Given the description of an element on the screen output the (x, y) to click on. 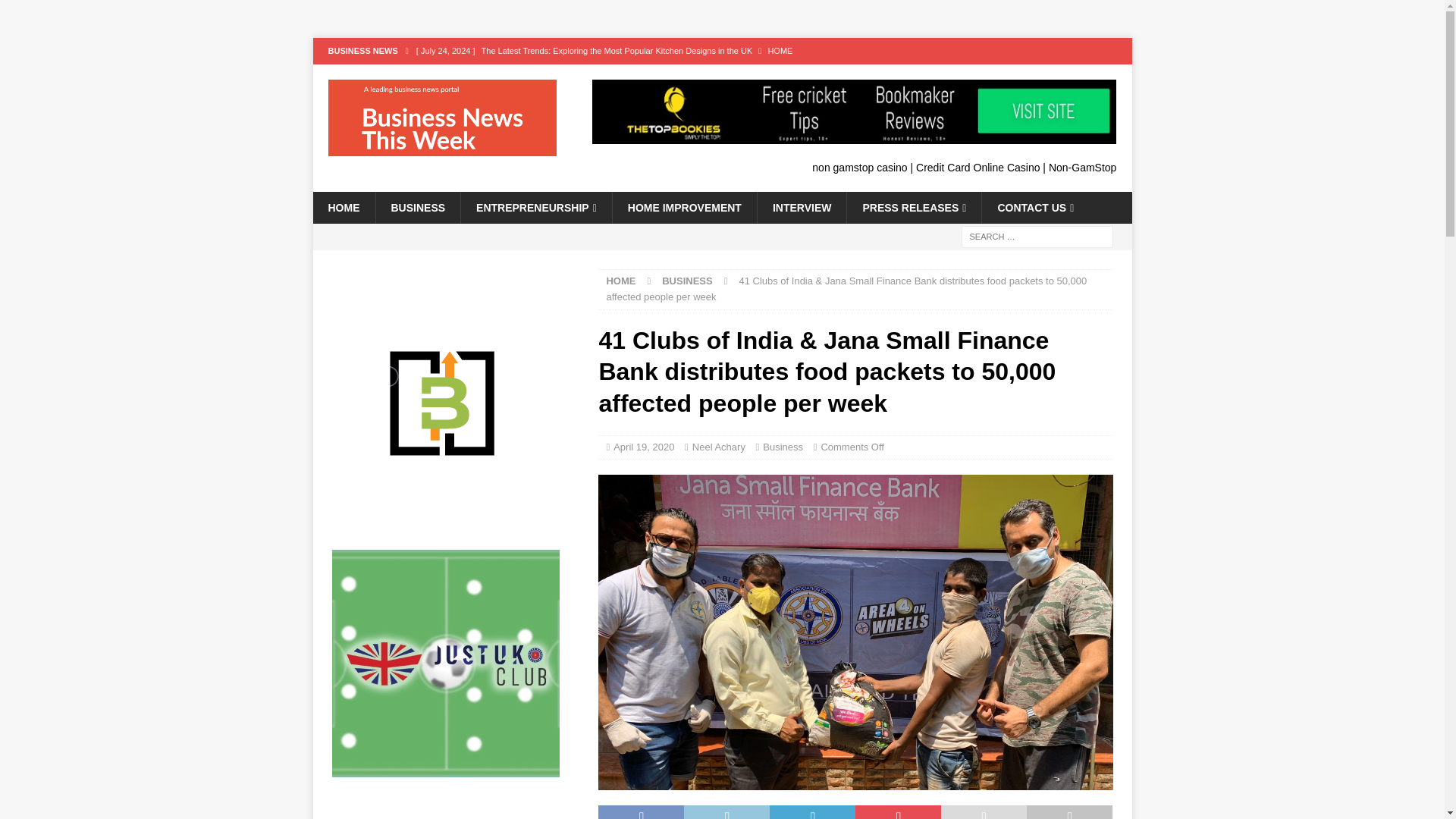
BUSINESS (686, 280)
HOME (619, 280)
INTERVIEW (802, 207)
HOME (343, 207)
Search (56, 11)
BUSINESS (417, 207)
Credit Card Online Casino (977, 167)
PRESS RELEASES (913, 207)
CONTACT US (1035, 207)
April 19, 2020 (643, 446)
Non-GamStop (1082, 167)
non gamstop casino (859, 167)
Business (782, 446)
